Given the description of an element on the screen output the (x, y) to click on. 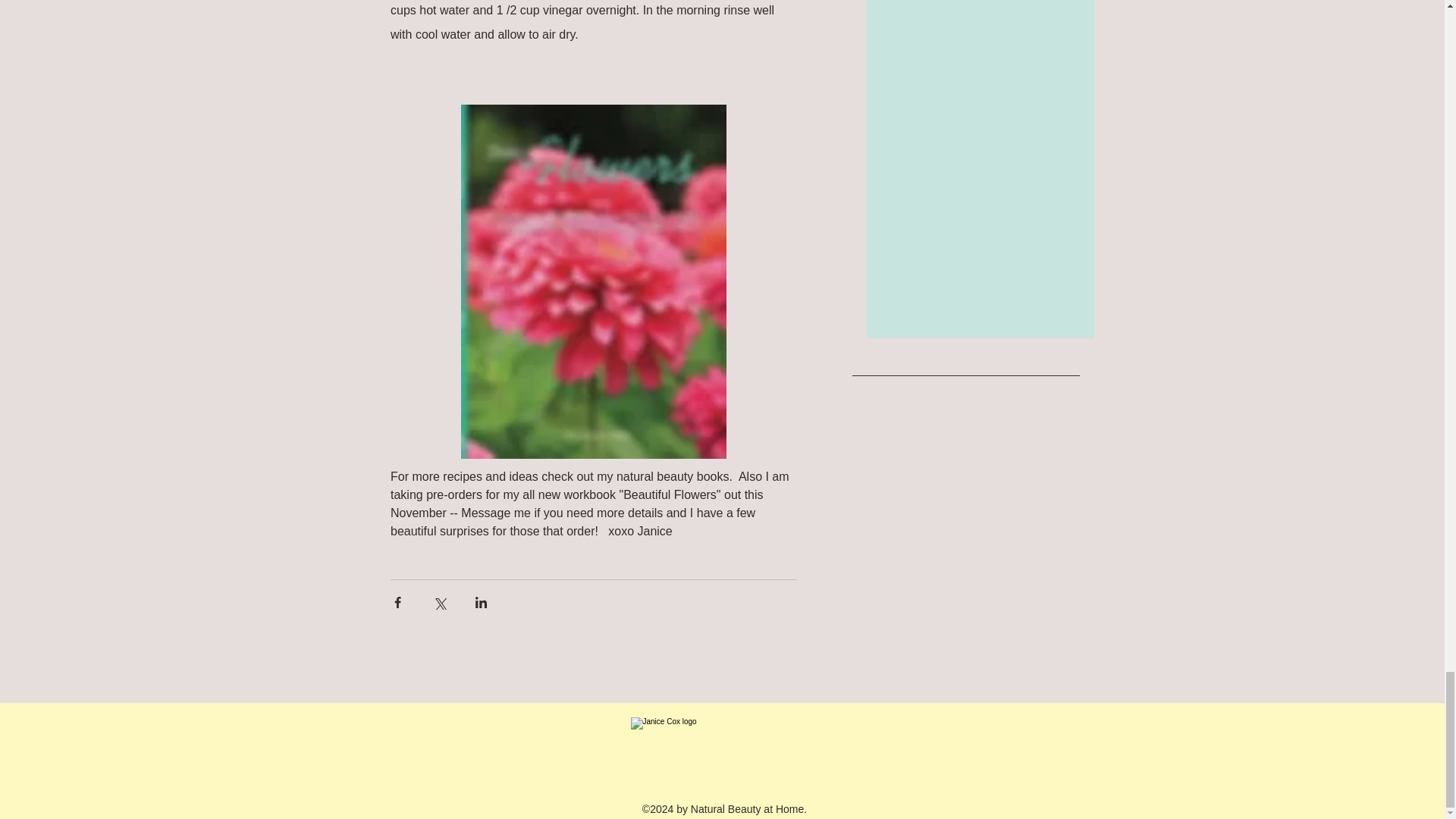
JC-logo.png (721, 749)
